Given the description of an element on the screen output the (x, y) to click on. 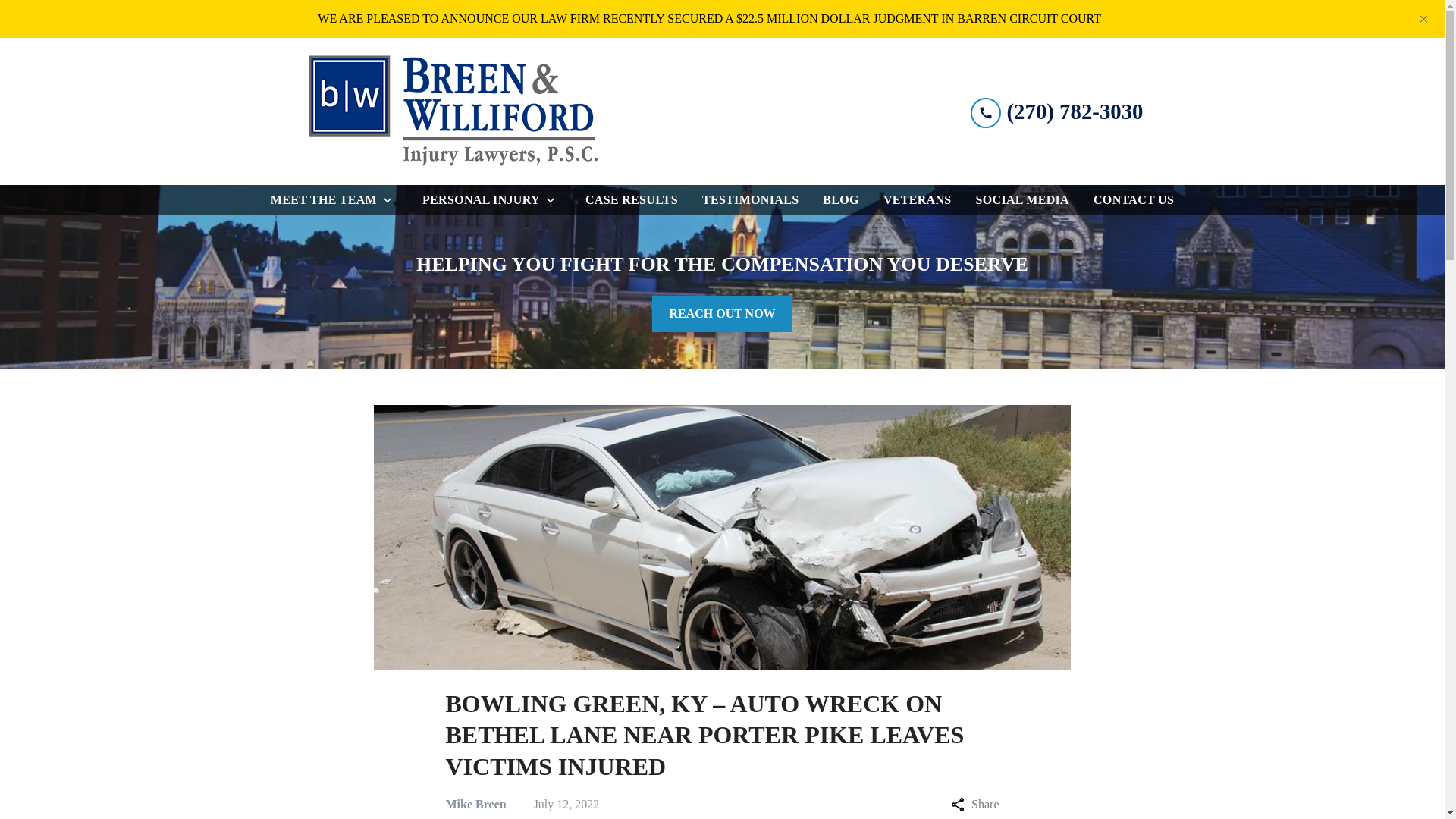
REACH OUT NOW (722, 313)
VETERANS (917, 200)
PERSONAL INJURY (478, 200)
Share (974, 804)
BLOG (840, 200)
SOCIAL MEDIA (1022, 200)
MEET THE TEAM (320, 200)
TESTIMONIALS (750, 200)
CONTACT US (1133, 200)
CASE RESULTS (631, 200)
